Given the description of an element on the screen output the (x, y) to click on. 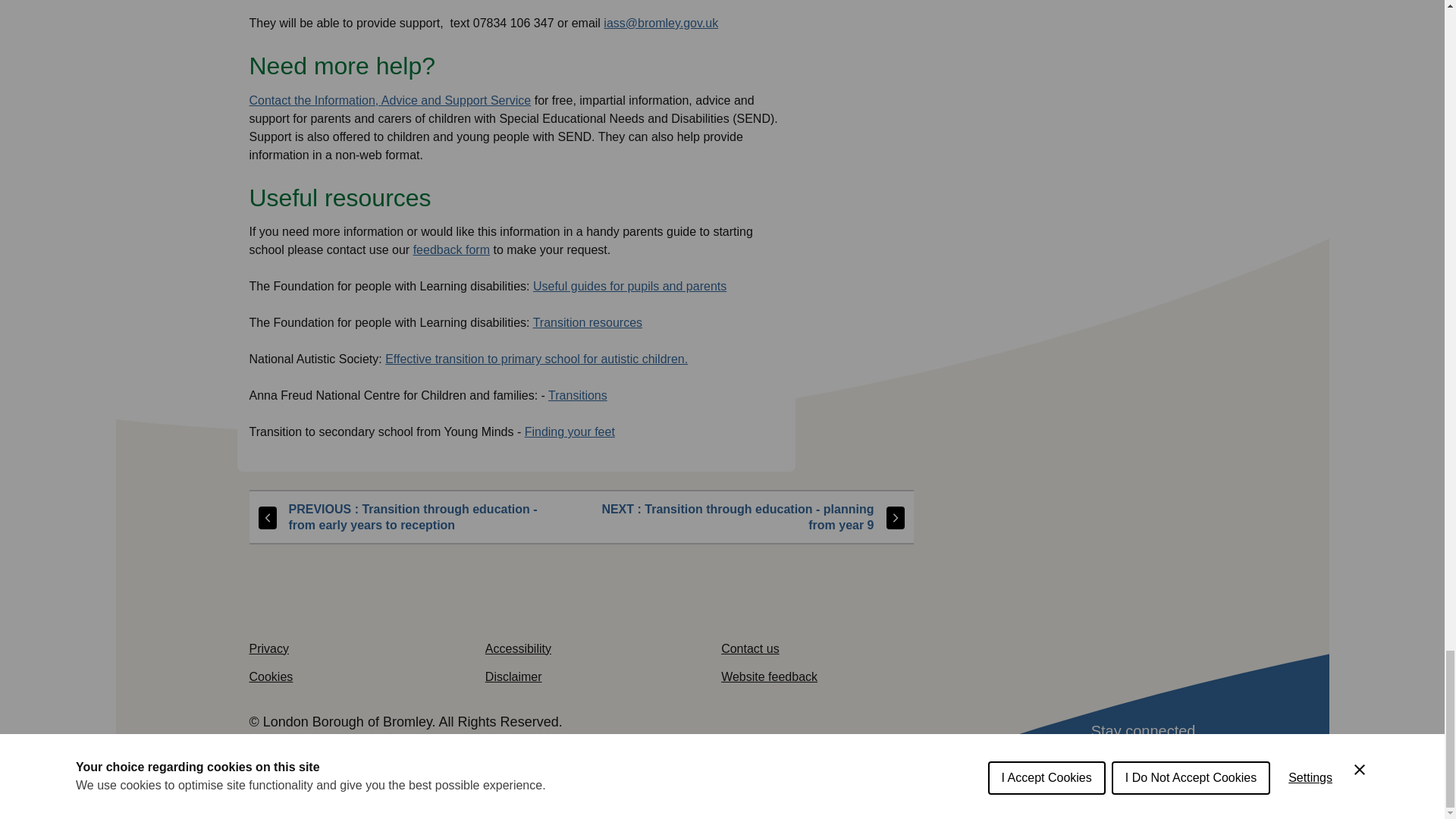
Facebook (1011, 775)
Youtube (1063, 775)
Visit the Jadu website (406, 740)
Linkedin (1168, 775)
Twitter (959, 775)
Instagram (1116, 775)
